Given the description of an element on the screen output the (x, y) to click on. 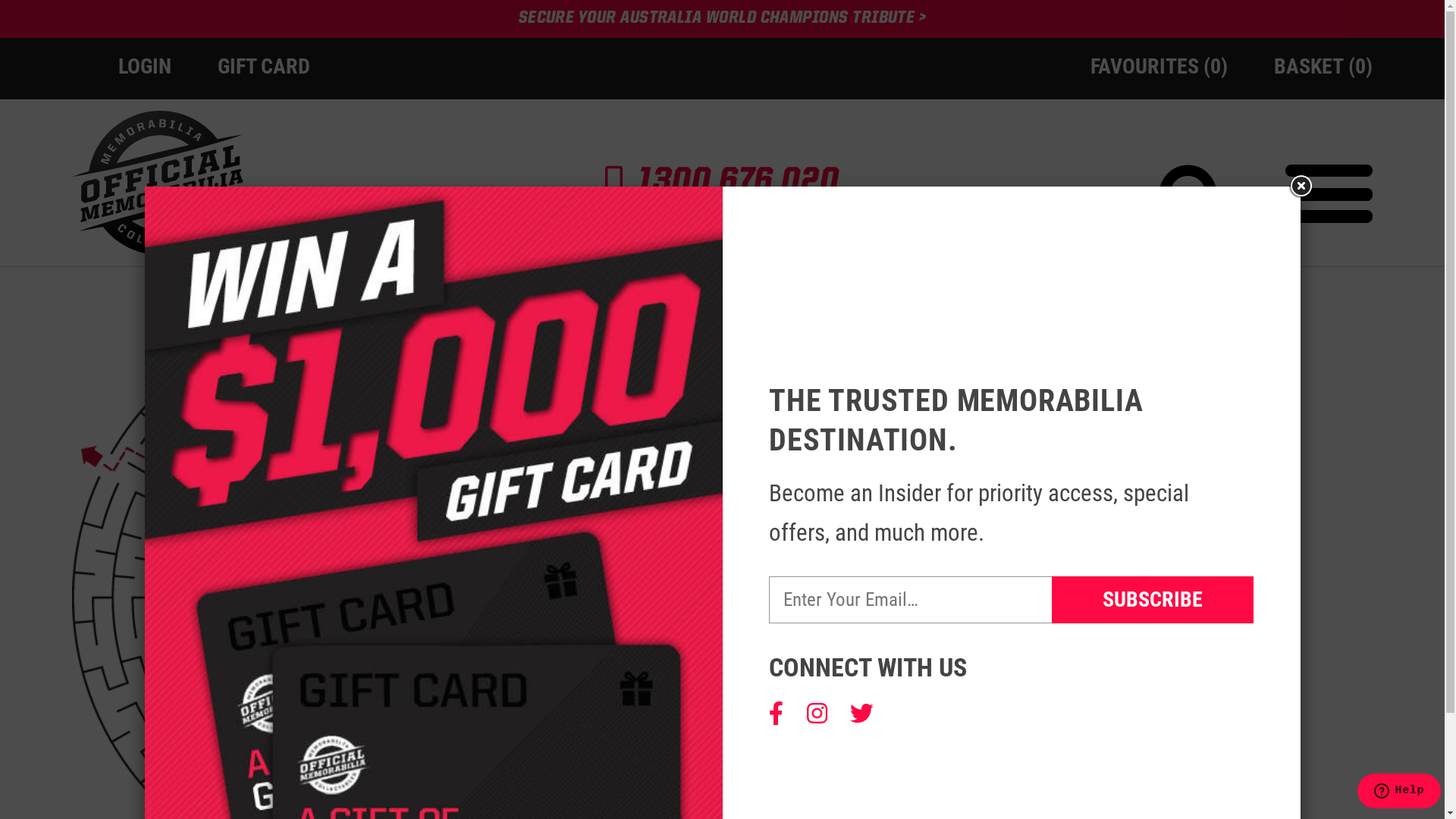
BASKET 0 Element type: text (1323, 65)
Show Navigation Element type: text (1328, 193)
1300 676 020 Element type: text (738, 181)
LOGIN Element type: text (144, 65)
Opens a widget where you can chat to one of our agents Element type: hover (1398, 792)
FAVOURITES 0 Element type: text (1158, 65)
BACK TO HOMEPAGE Element type: text (876, 745)
SECURE YOUR AUSTRALIA WORLD CHAMPIONS TRIBUTE > Element type: text (722, 18)
Close Element type: hover (1299, 186)
Search Element type: text (1339, 78)
Search Element type: text (1194, 201)
Search Element type: text (1146, 159)
SUBSCRIBE Element type: text (1152, 599)
GIFT CARD Element type: text (263, 65)
